Given the description of an element on the screen output the (x, y) to click on. 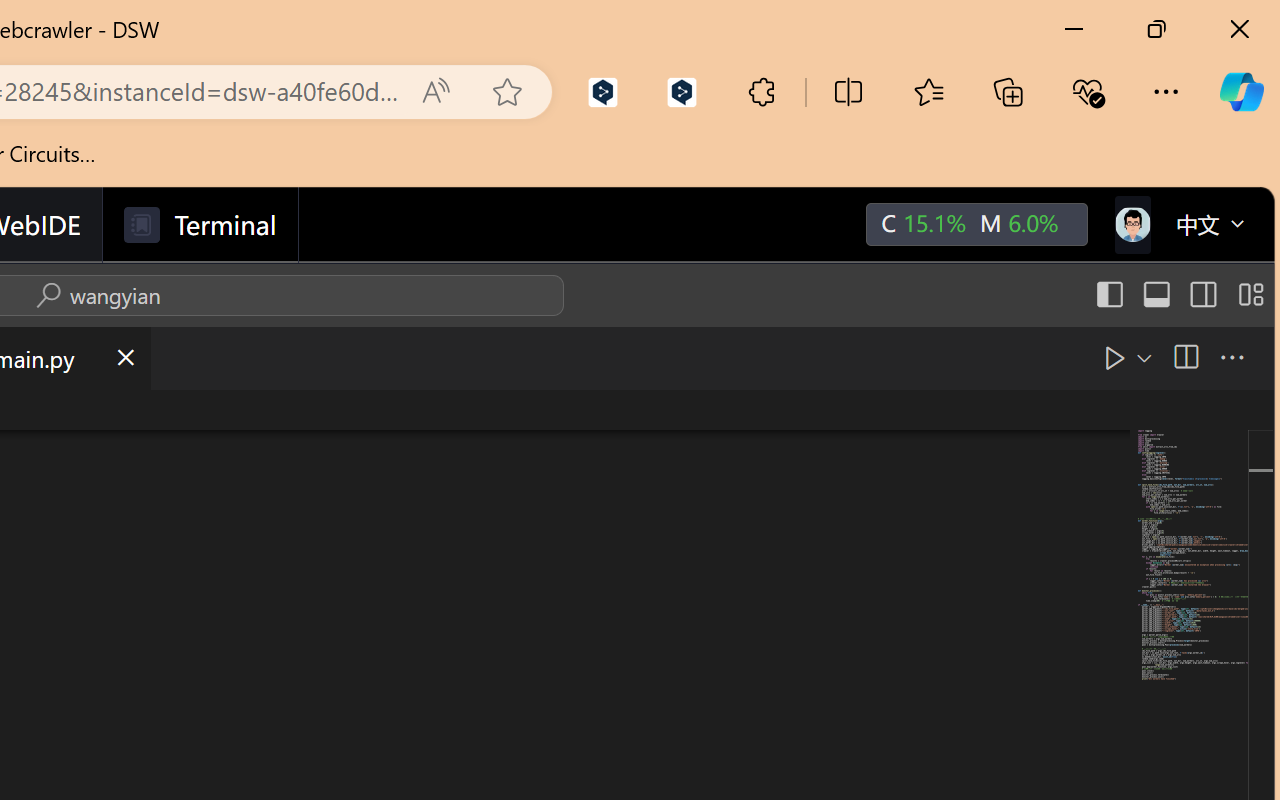
Tab actions (123, 358)
Split Editor Right (Ctrl+\) [Alt] Split Editor Down (1183, 357)
Close (Ctrl+F4) (124, 358)
icon (1131, 224)
Run or Debug... (1142, 357)
Class: actions-container (94, 295)
Run Python File (1114, 357)
Terminal (199, 225)
